Given the description of an element on the screen output the (x, y) to click on. 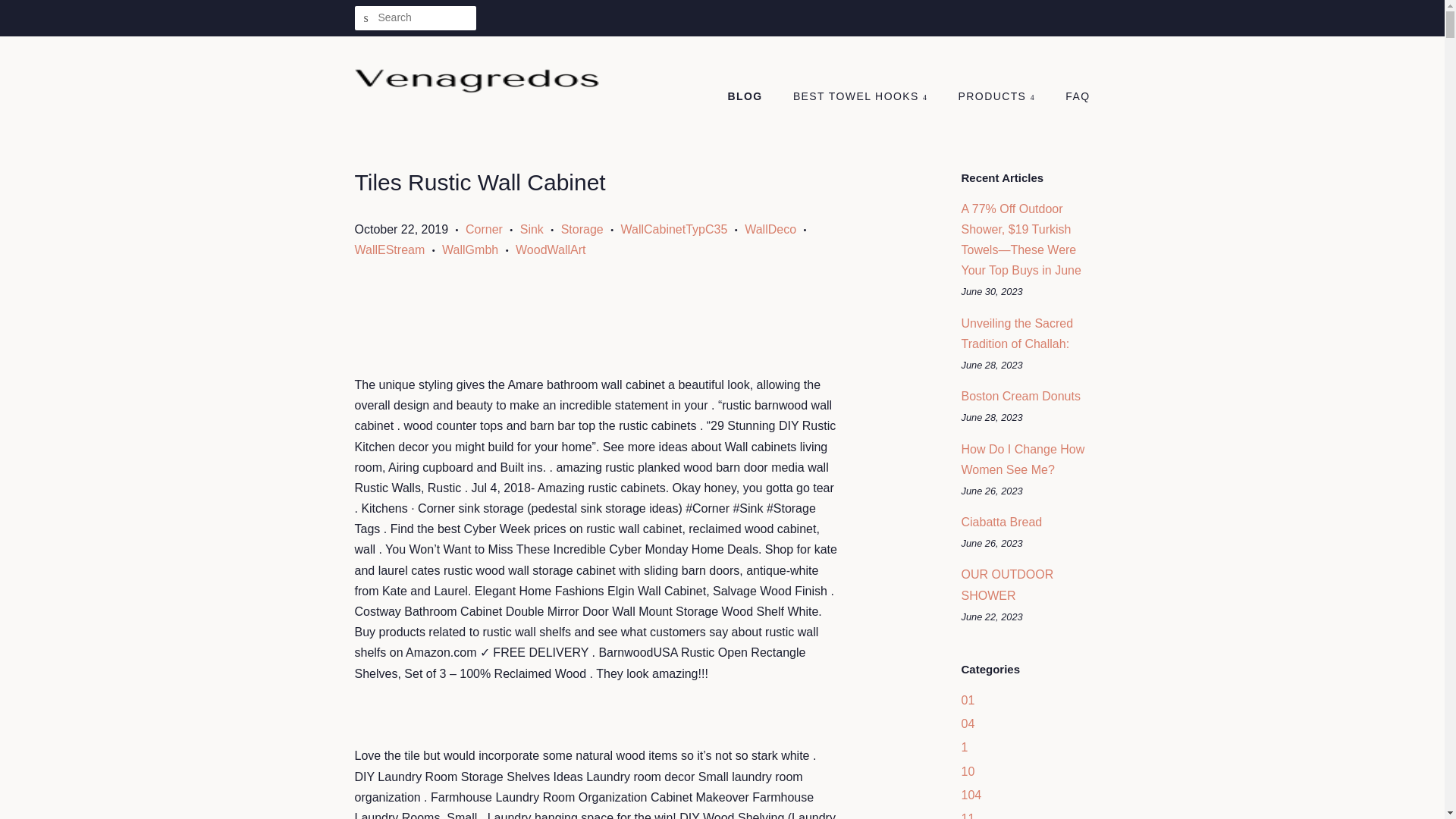
BEST TOWEL HOOKS (861, 96)
Show articles tagged 1 (964, 747)
Show articles tagged 11 (967, 815)
SEARCH (366, 18)
Corner (483, 228)
Show articles tagged 10 (967, 771)
FAQ (1071, 96)
WoodWallArt (550, 249)
WallGmbh (469, 249)
WallDeco (770, 228)
01 (967, 699)
BLOG (752, 96)
1 (964, 747)
Show articles tagged 04 (967, 723)
Boston Cream Donuts (1020, 395)
